Given the description of an element on the screen output the (x, y) to click on. 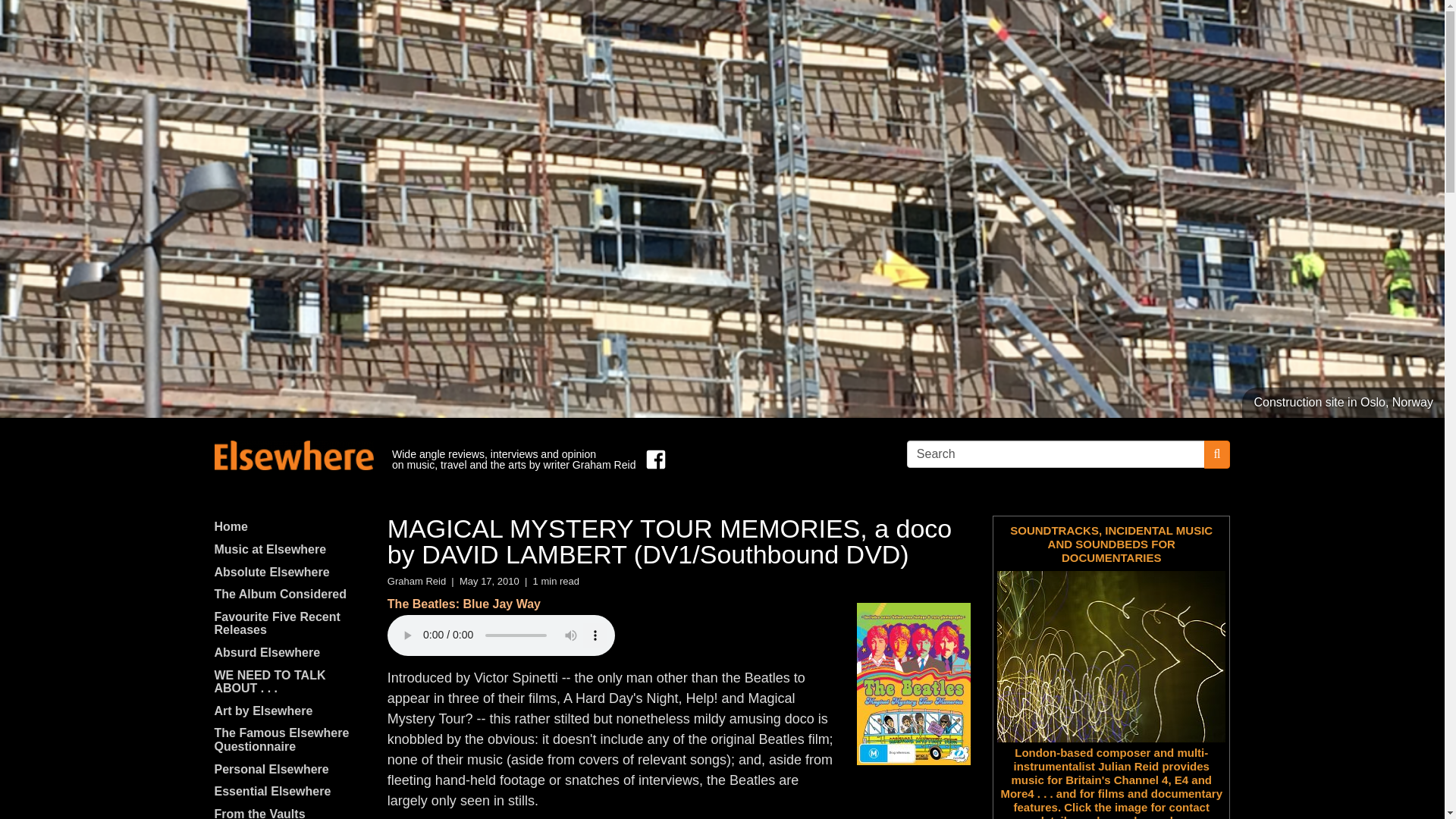
Elsewhere by Graham Reid (293, 455)
Search (1056, 453)
Search (1056, 453)
Find us on Facebook (652, 459)
